Given the description of an element on the screen output the (x, y) to click on. 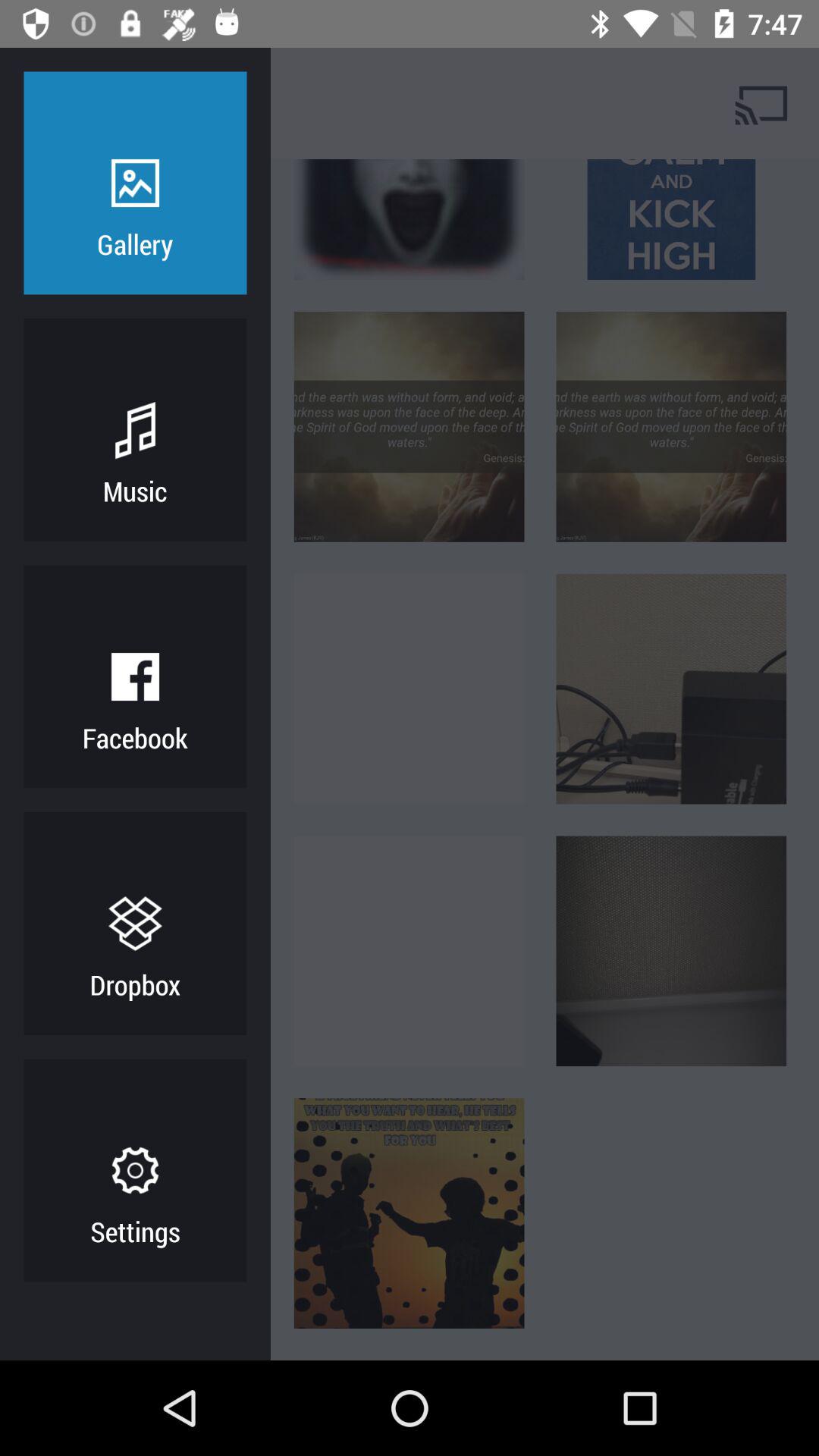
select the settings app (135, 1231)
